Given the description of an element on the screen output the (x, y) to click on. 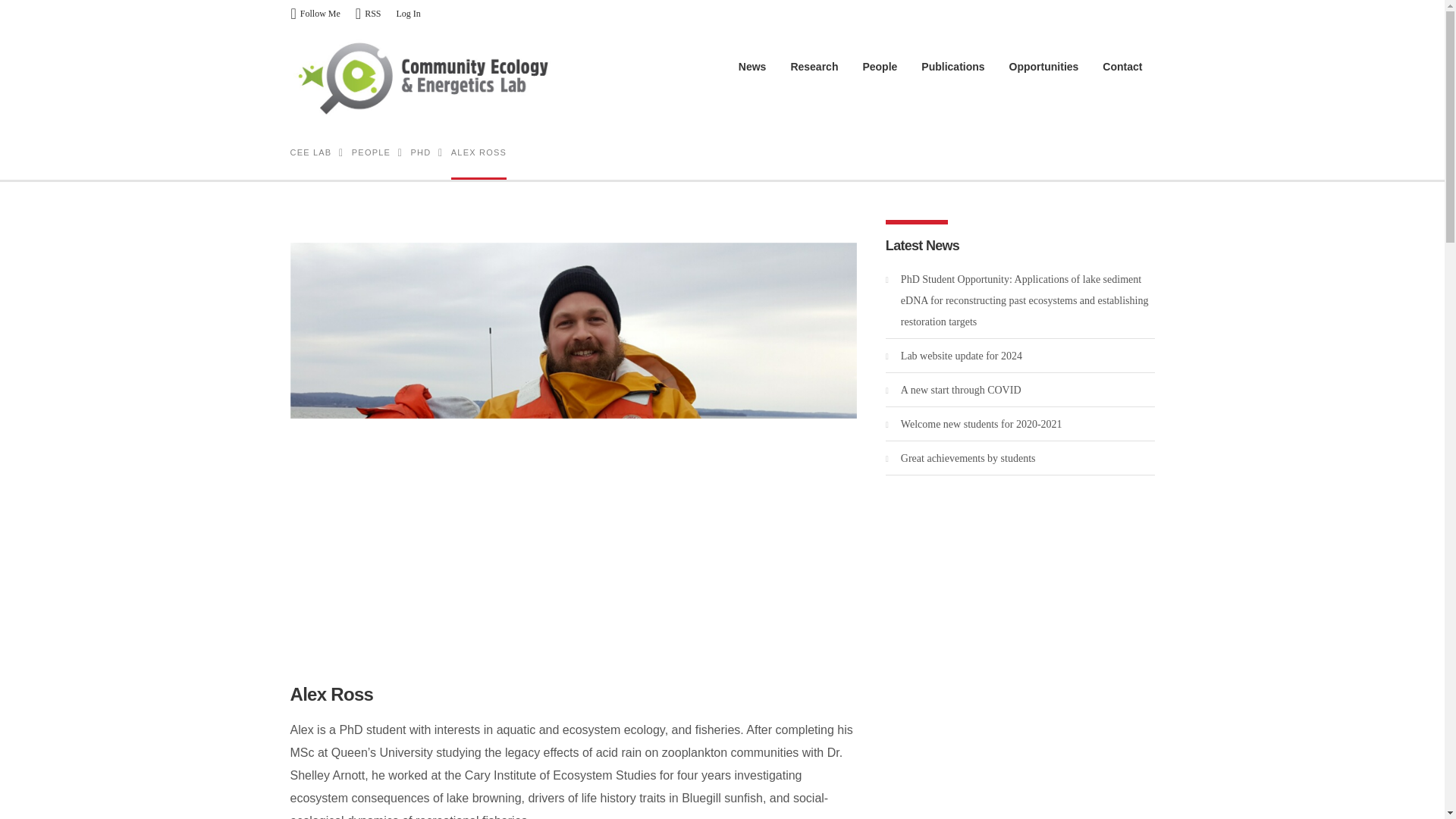
Welcome new students for 2020-2021 (981, 423)
News (752, 66)
Publications (951, 66)
Research (813, 66)
Log In (408, 13)
People (879, 66)
A new start through COVID (961, 389)
Go to People. (371, 152)
Opportunities (1043, 66)
Great achievements by students (968, 458)
RSS (368, 13)
Go to CEE LAB. (310, 152)
CEE LAB (310, 152)
Lab website update for 2024 (961, 355)
PHD (420, 152)
